Given the description of an element on the screen output the (x, y) to click on. 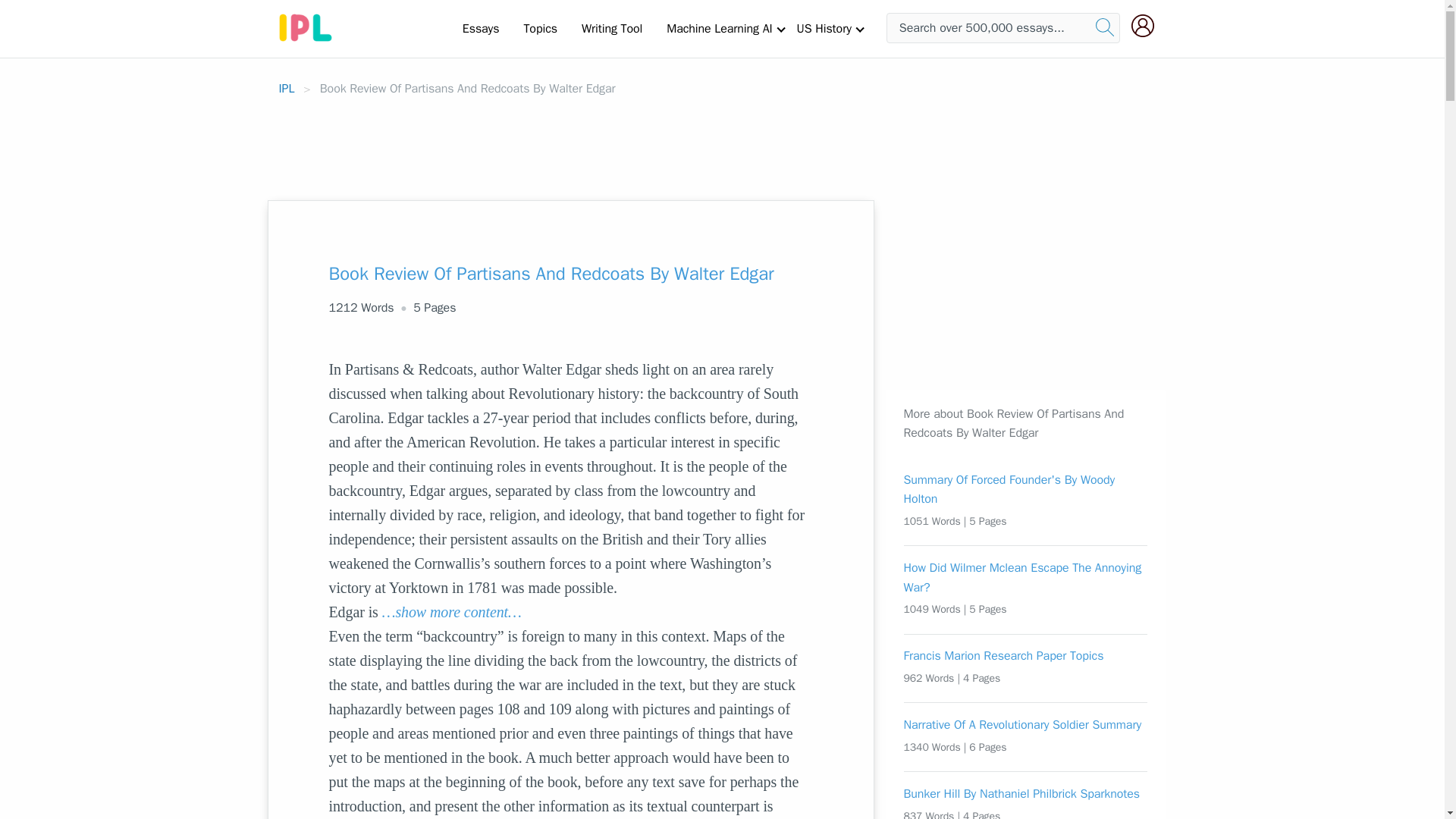
Machine Learning AI (718, 28)
Topics (540, 28)
Essays (480, 28)
Writing Tool (611, 28)
IPL (287, 88)
US History (823, 28)
